Given the description of an element on the screen output the (x, y) to click on. 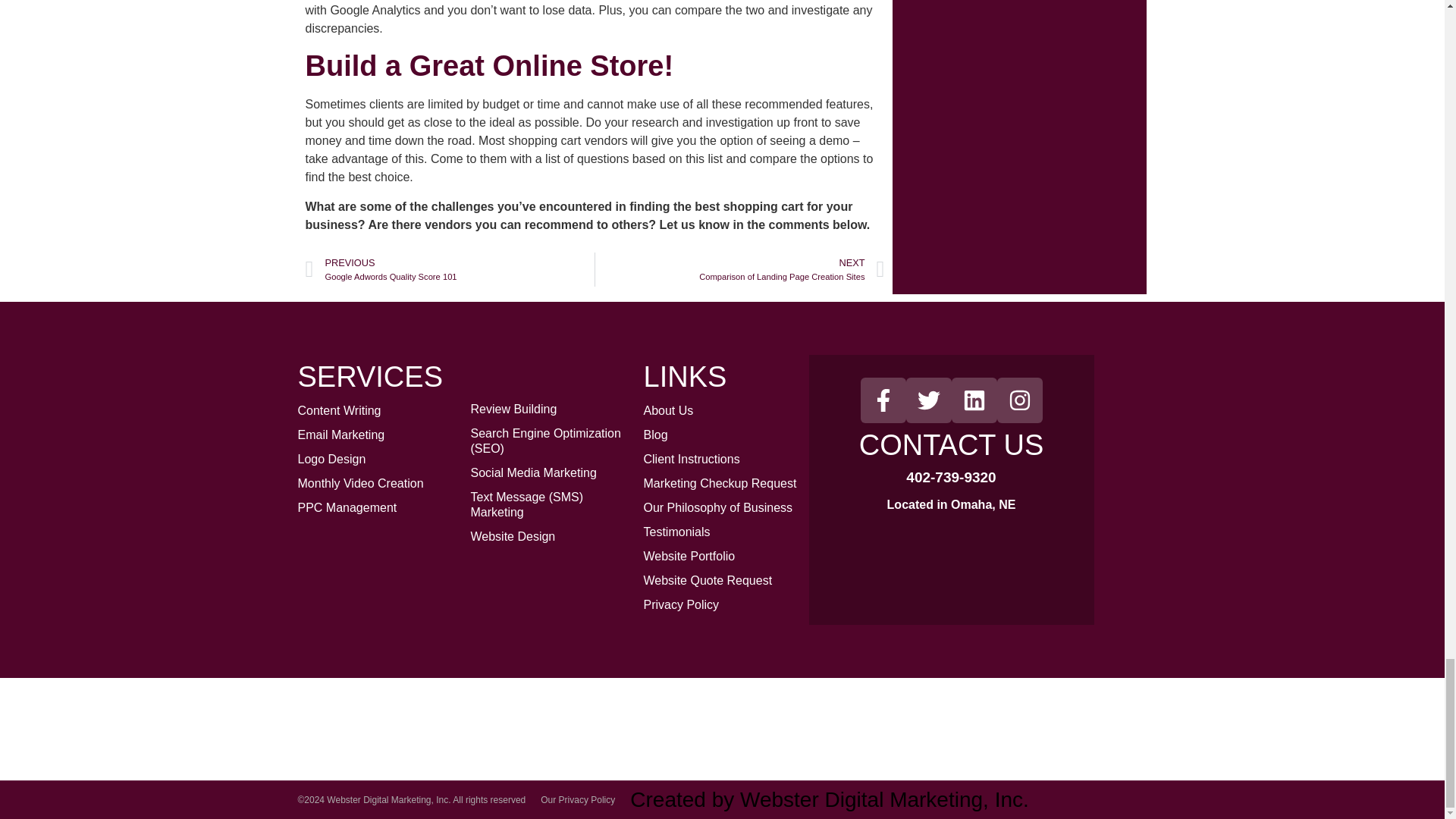
mba-logo-100w (975, 720)
godaddy (636, 719)
BNI-proud-member-100w (467, 719)
